Given the description of an element on the screen output the (x, y) to click on. 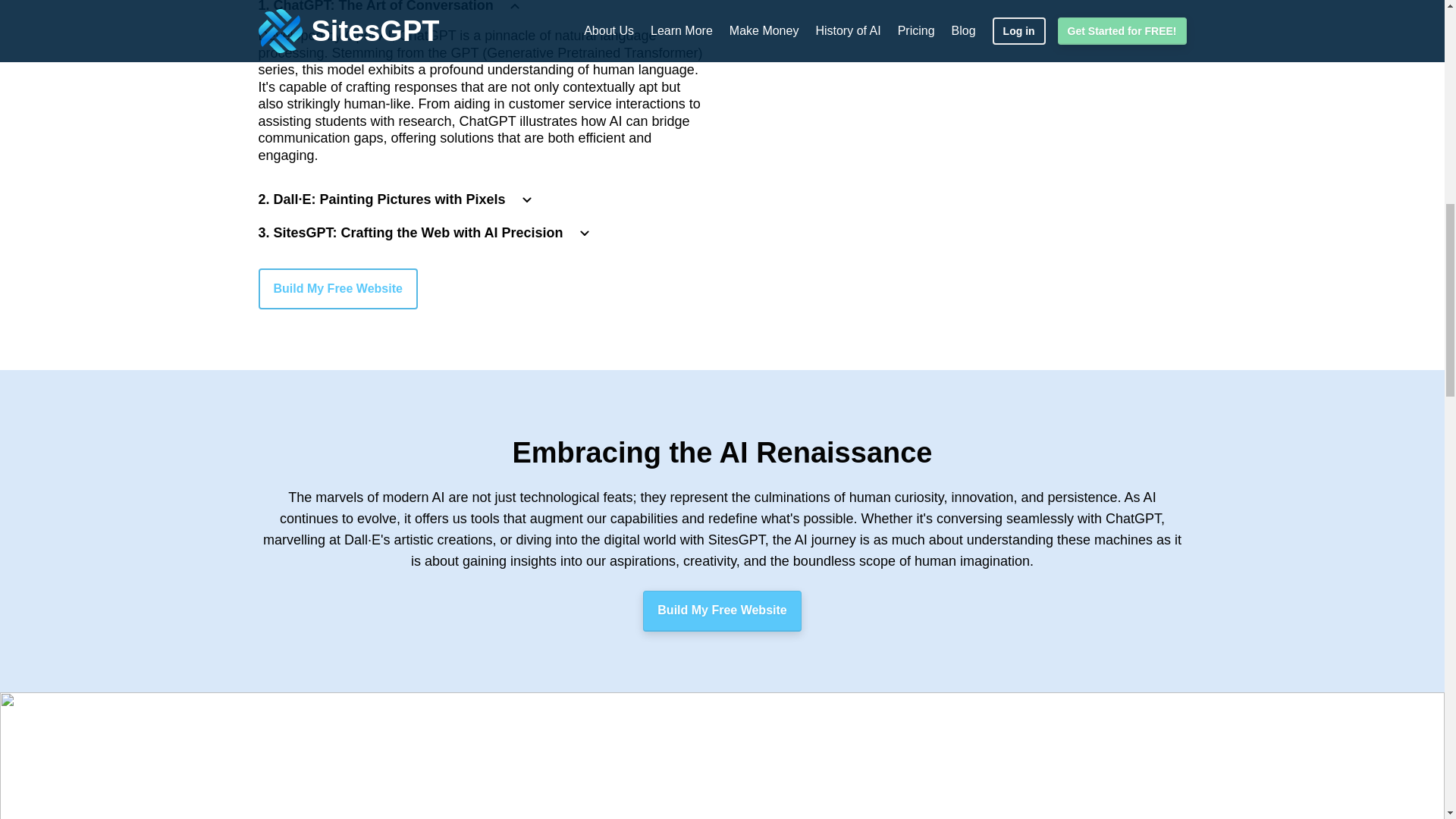
Build My Free Website (336, 288)
3. SitesGPT: Crafting the Web with AI Precision (424, 233)
Build My Free Website (721, 610)
1. ChatGPT: The Art of Conversation (389, 7)
